Given the description of an element on the screen output the (x, y) to click on. 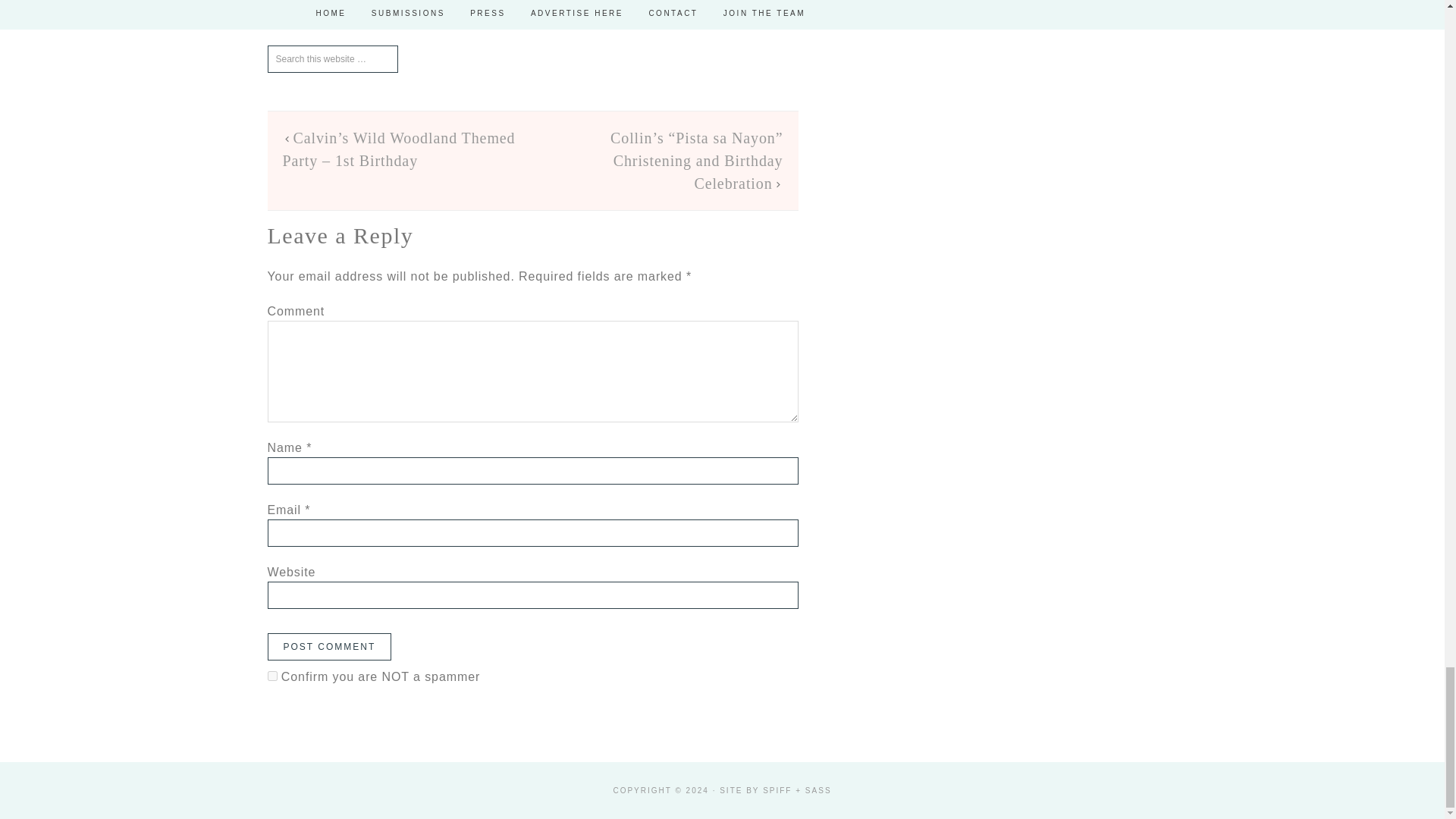
Post Comment (328, 646)
on (271, 675)
